Given the description of an element on the screen output the (x, y) to click on. 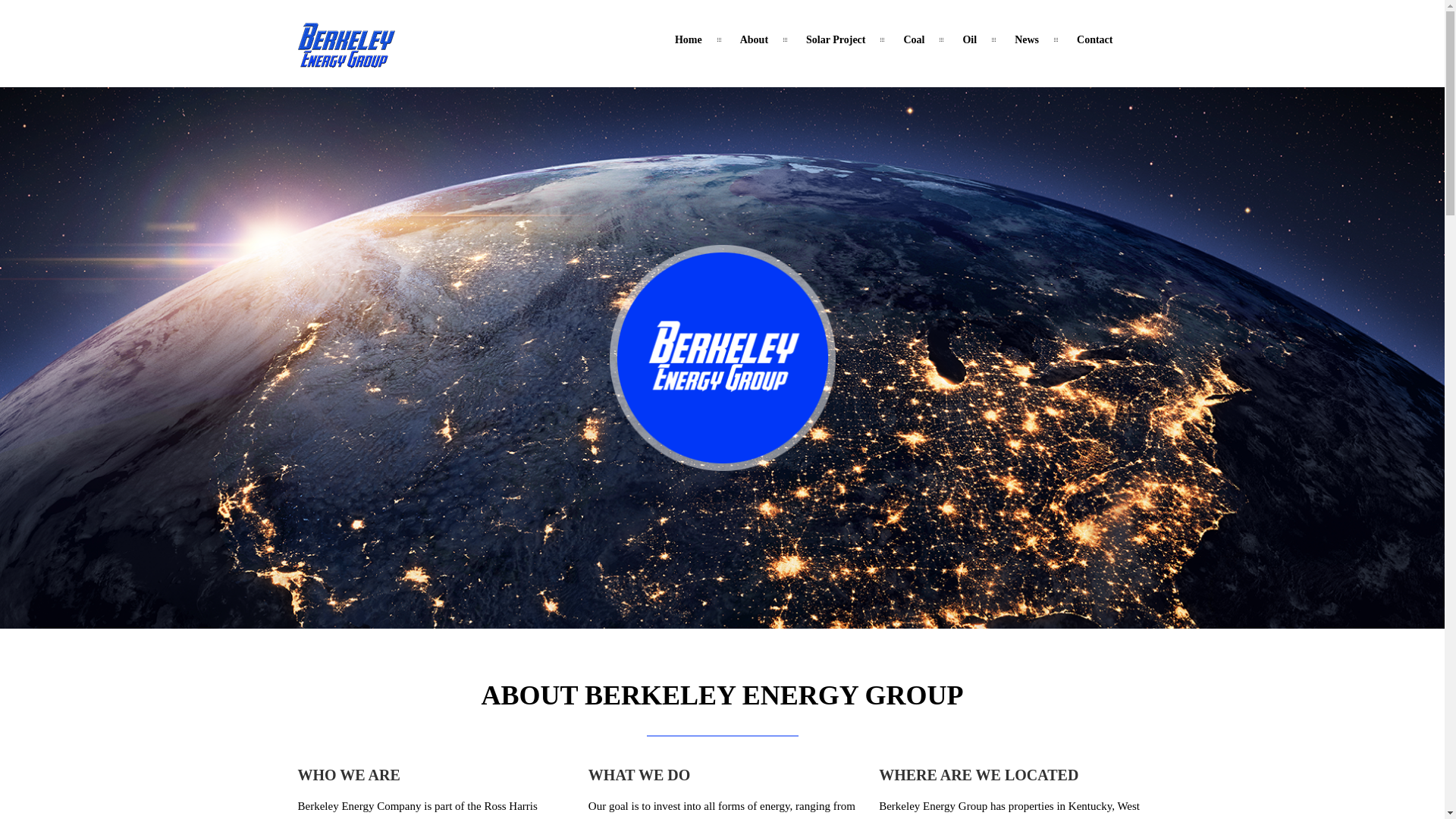
Berkeley Energy Group (345, 59)
Coal (913, 39)
Oil (969, 39)
Solar Project (835, 39)
Contact (1094, 39)
Home (688, 39)
About (753, 39)
News (1026, 39)
